Given the description of an element on the screen output the (x, y) to click on. 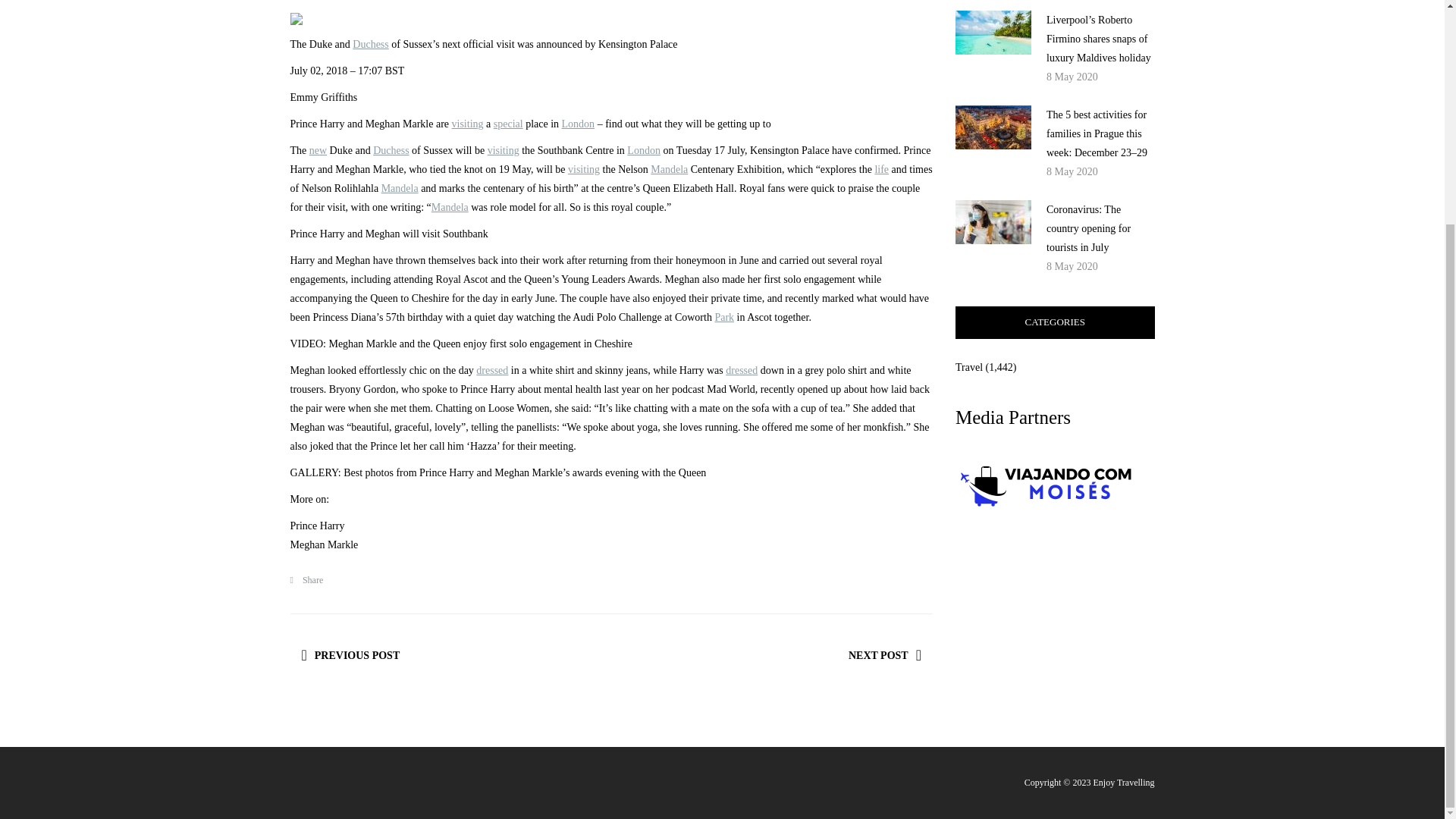
life (881, 169)
Mandela (449, 206)
new (317, 150)
London (644, 150)
Mandela (668, 169)
Park (723, 317)
dressed (741, 369)
special (507, 123)
dressed (492, 369)
visiting (583, 169)
